Given the description of an element on the screen output the (x, y) to click on. 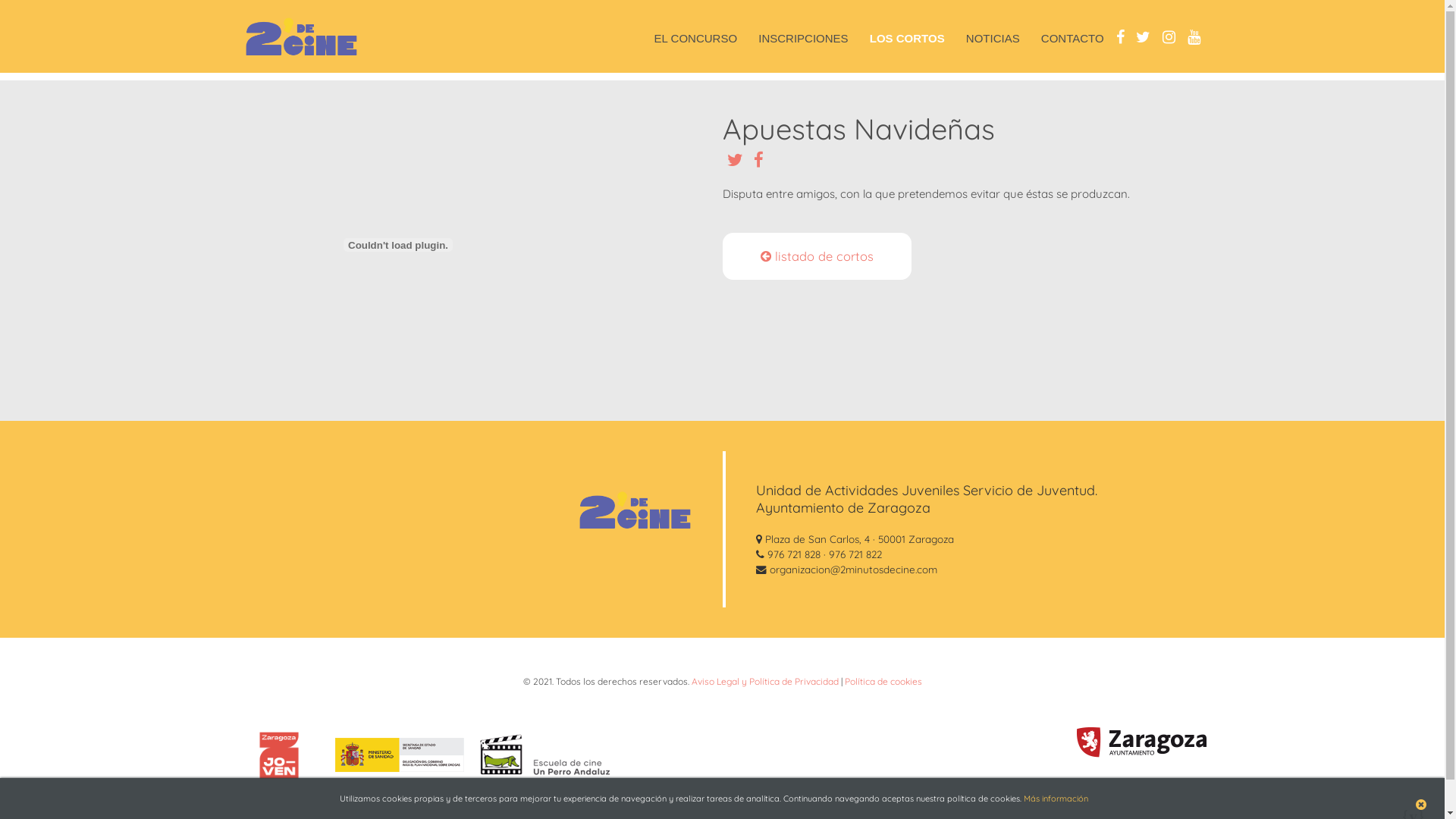
escuela de cine Element type: hover (543, 756)
NOTICIAS Element type: text (993, 37)
LOS CORTOS Element type: text (906, 37)
Juventud Element type: hover (1140, 750)
CONTACTO Element type: text (1072, 37)
INSCRIPCIONES Element type: text (802, 37)
listado de cortos Element type: text (815, 255)
EL CONCURSO Element type: text (695, 37)
